Given the description of an element on the screen output the (x, y) to click on. 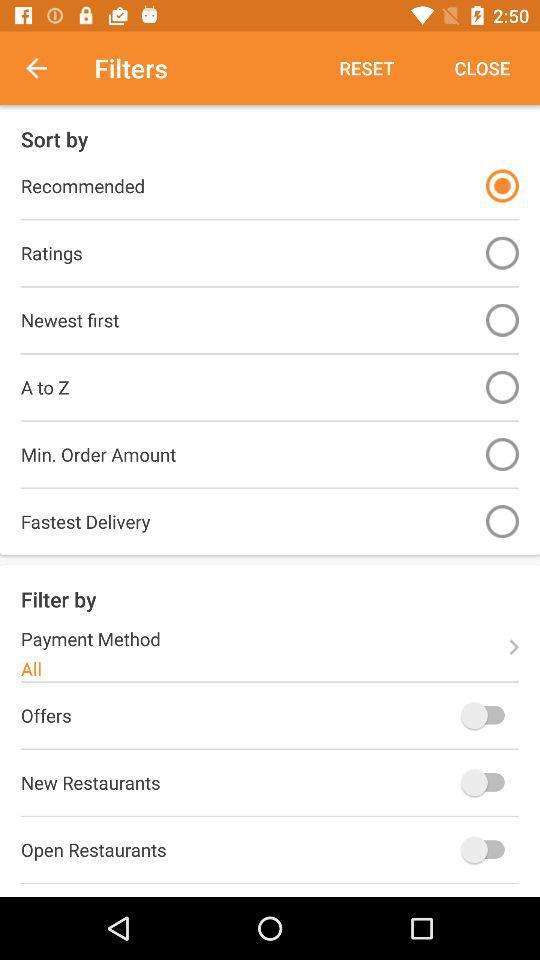
go back (47, 68)
